Given the description of an element on the screen output the (x, y) to click on. 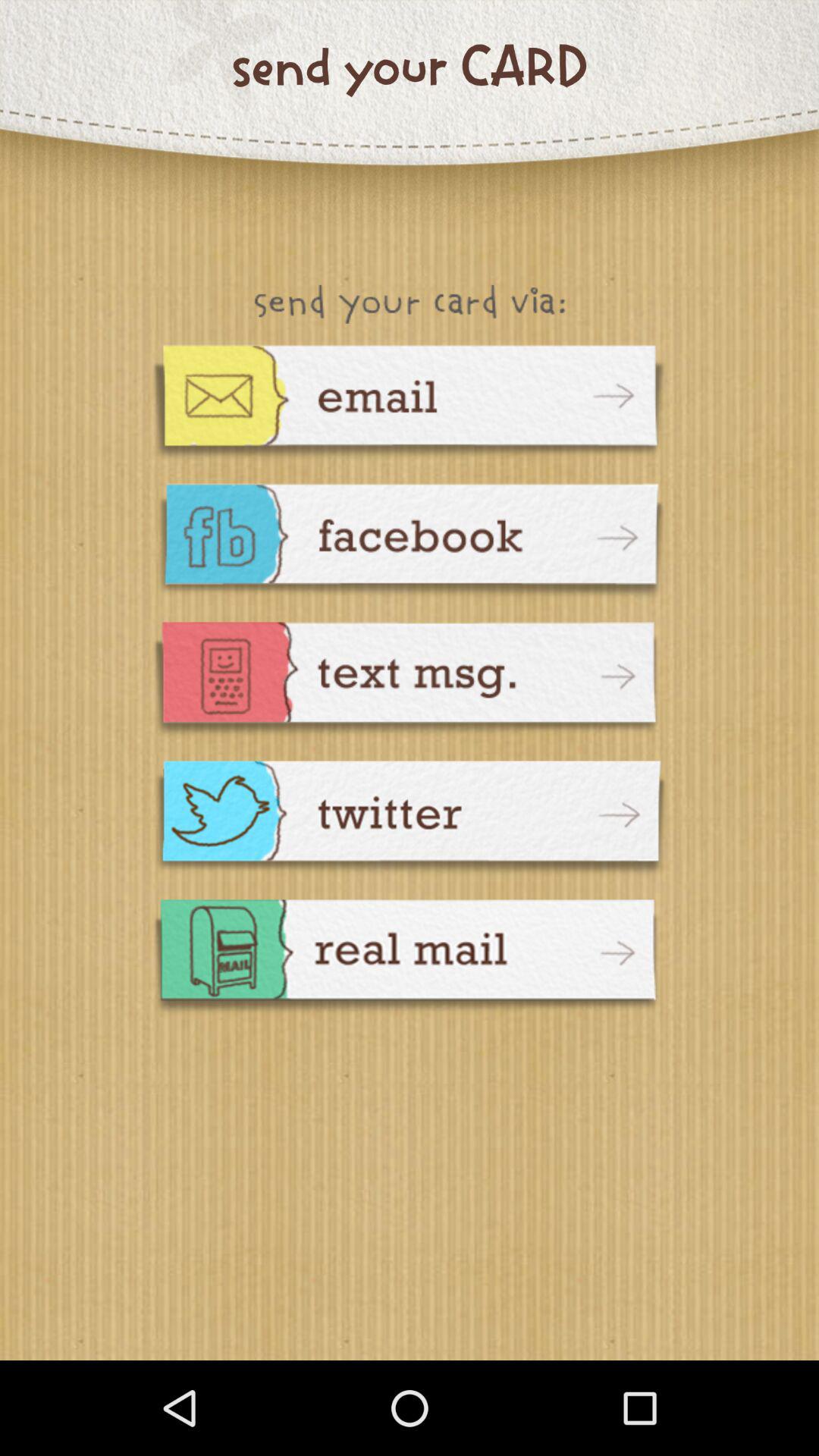
go to email (409, 403)
